Given the description of an element on the screen output the (x, y) to click on. 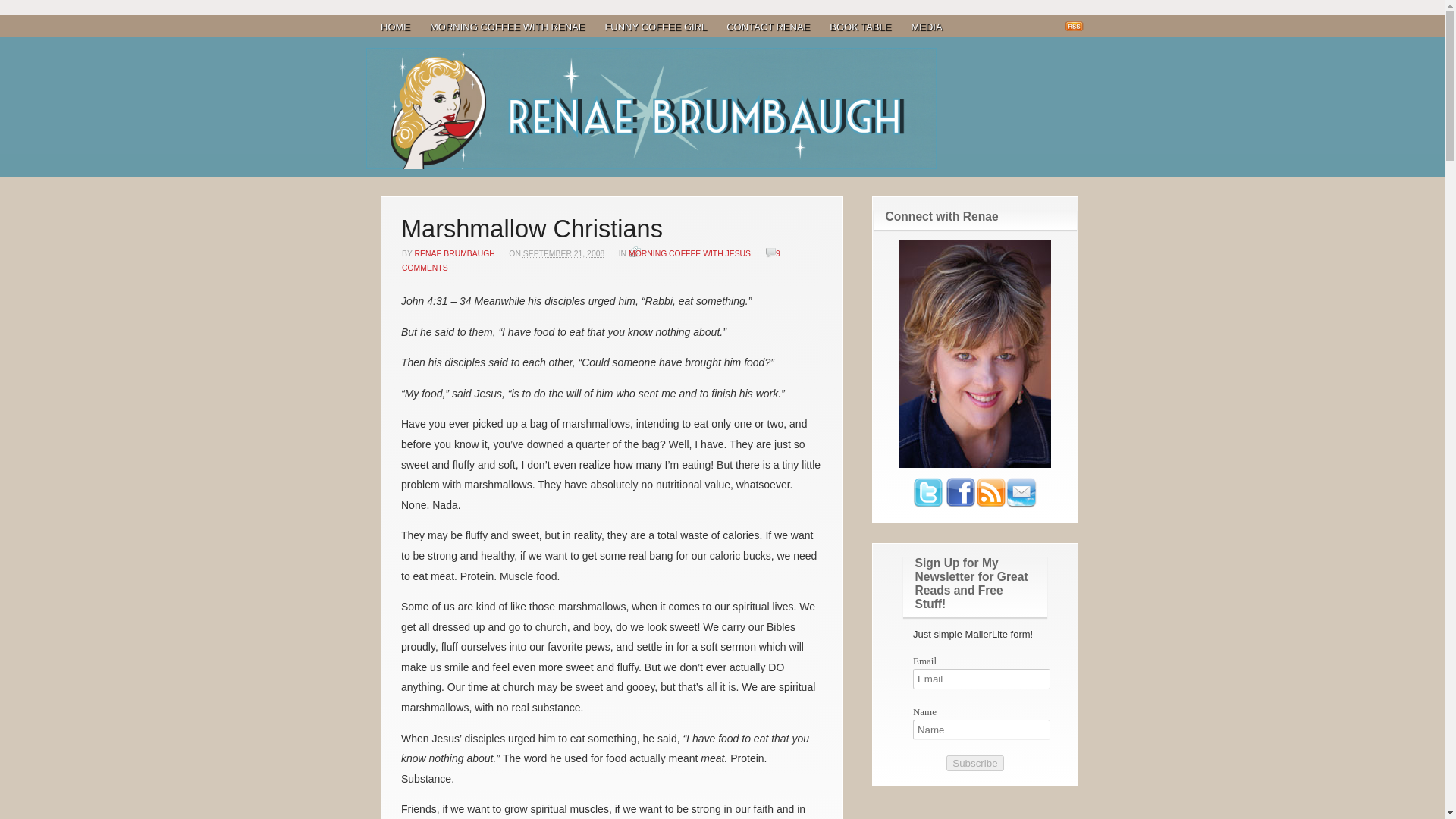
BOOK TABLE (860, 27)
The Funny Coffee Girl (650, 107)
Posts by Renae Brumbaugh (454, 253)
2008-09-21T14:27:53-0500 (563, 253)
MEDIA (926, 27)
FUNNY COFFEE GIRL (655, 27)
MORNING COFFEE WITH RENAE (507, 27)
9 COMMENTS (590, 260)
HOME (395, 27)
RSS (1075, 27)
